Given the description of an element on the screen output the (x, y) to click on. 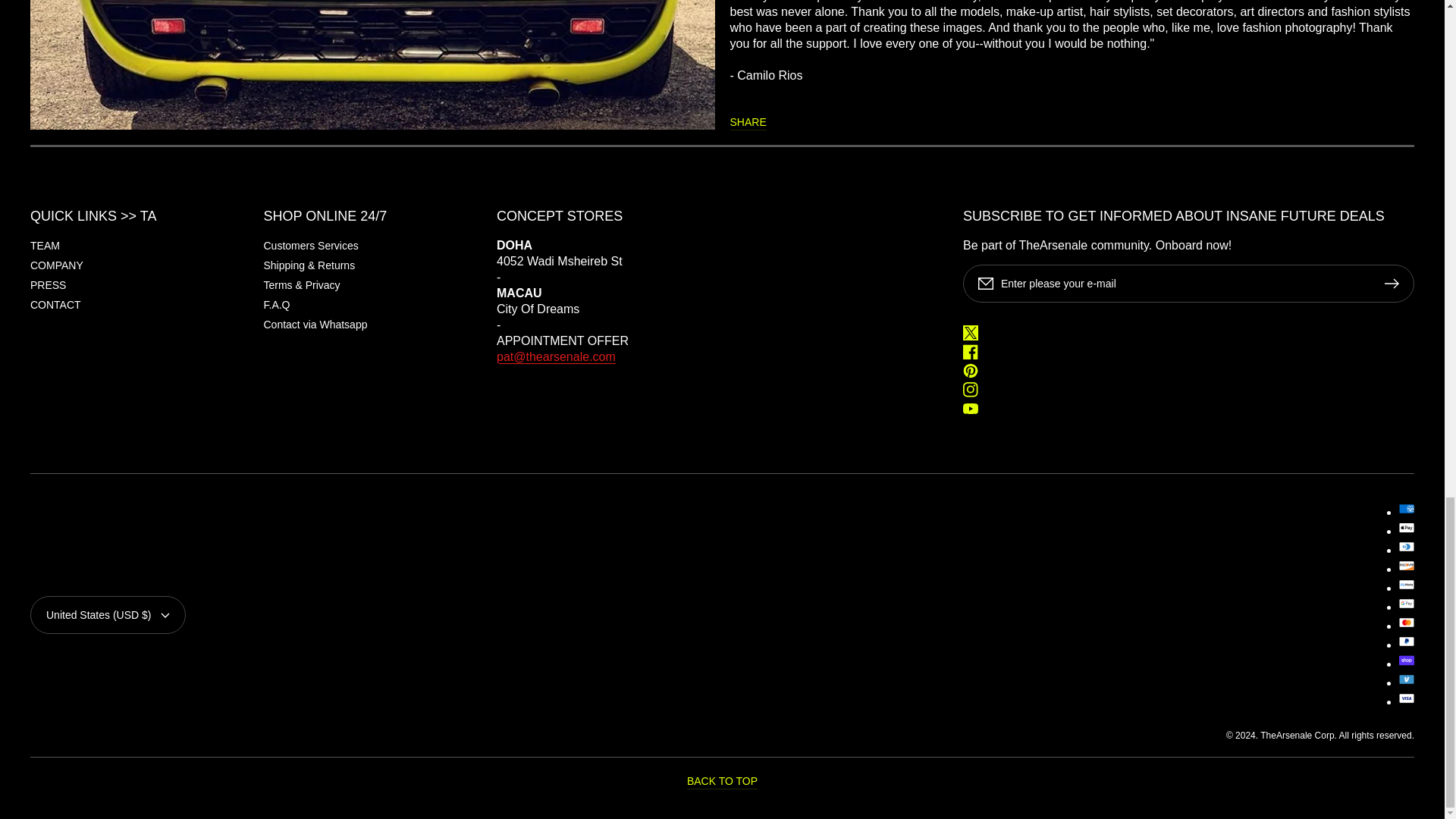
Send your email (555, 355)
Diners Club (1406, 546)
Apple Pay (1406, 526)
Discover (1406, 564)
American Express (1406, 508)
